Given the description of an element on the screen output the (x, y) to click on. 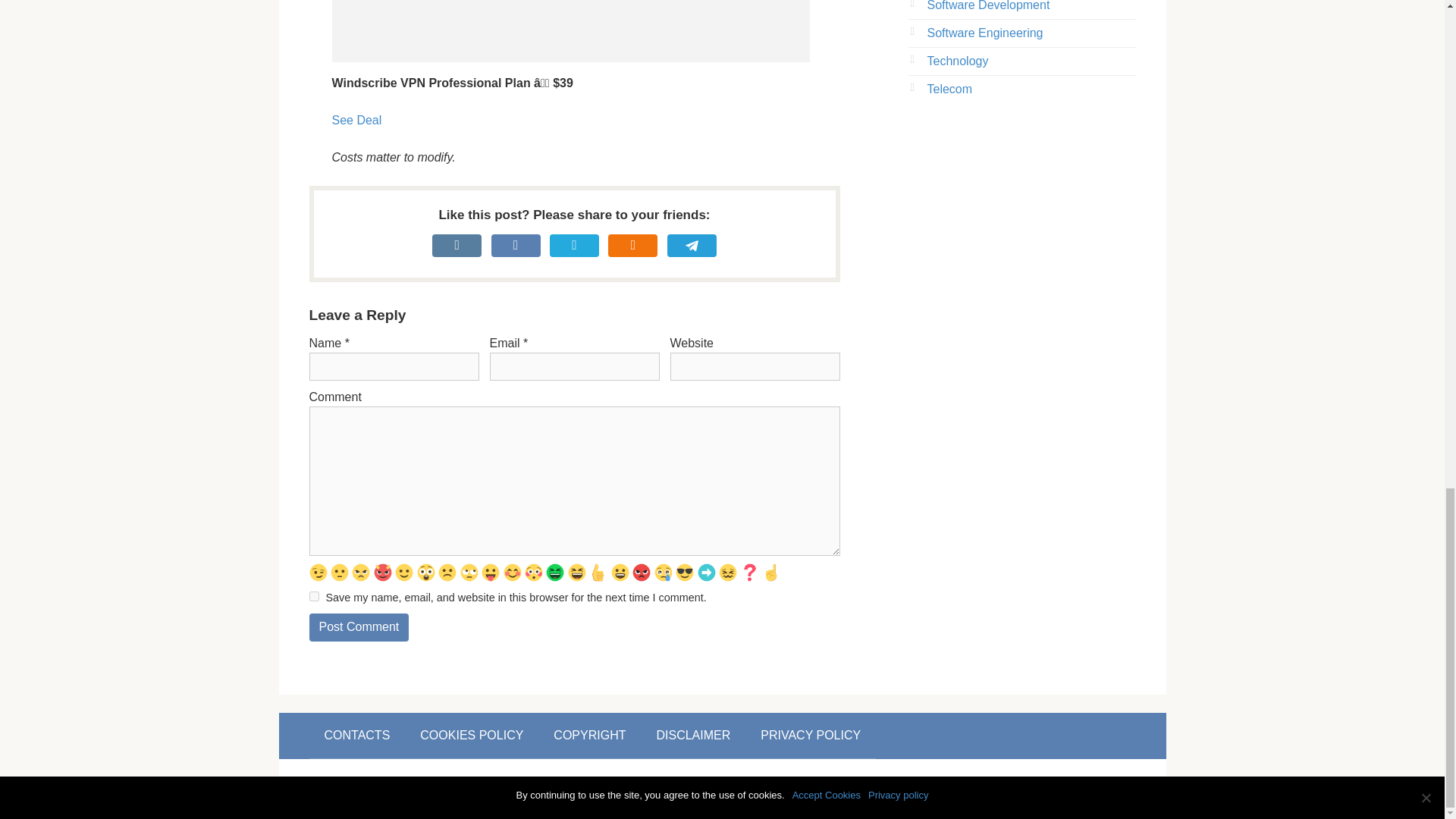
Software Development (987, 5)
DISCLAIMER (692, 735)
Post Comment (358, 627)
Telecom (949, 88)
CONTACTS (357, 735)
Post Comment (358, 627)
Software Engineering (984, 32)
PRIVACY POLICY (810, 735)
Technology (957, 60)
COPYRIGHT (589, 735)
See Deal (356, 119)
COOKIES POLICY (471, 735)
yes (313, 596)
